Given the description of an element on the screen output the (x, y) to click on. 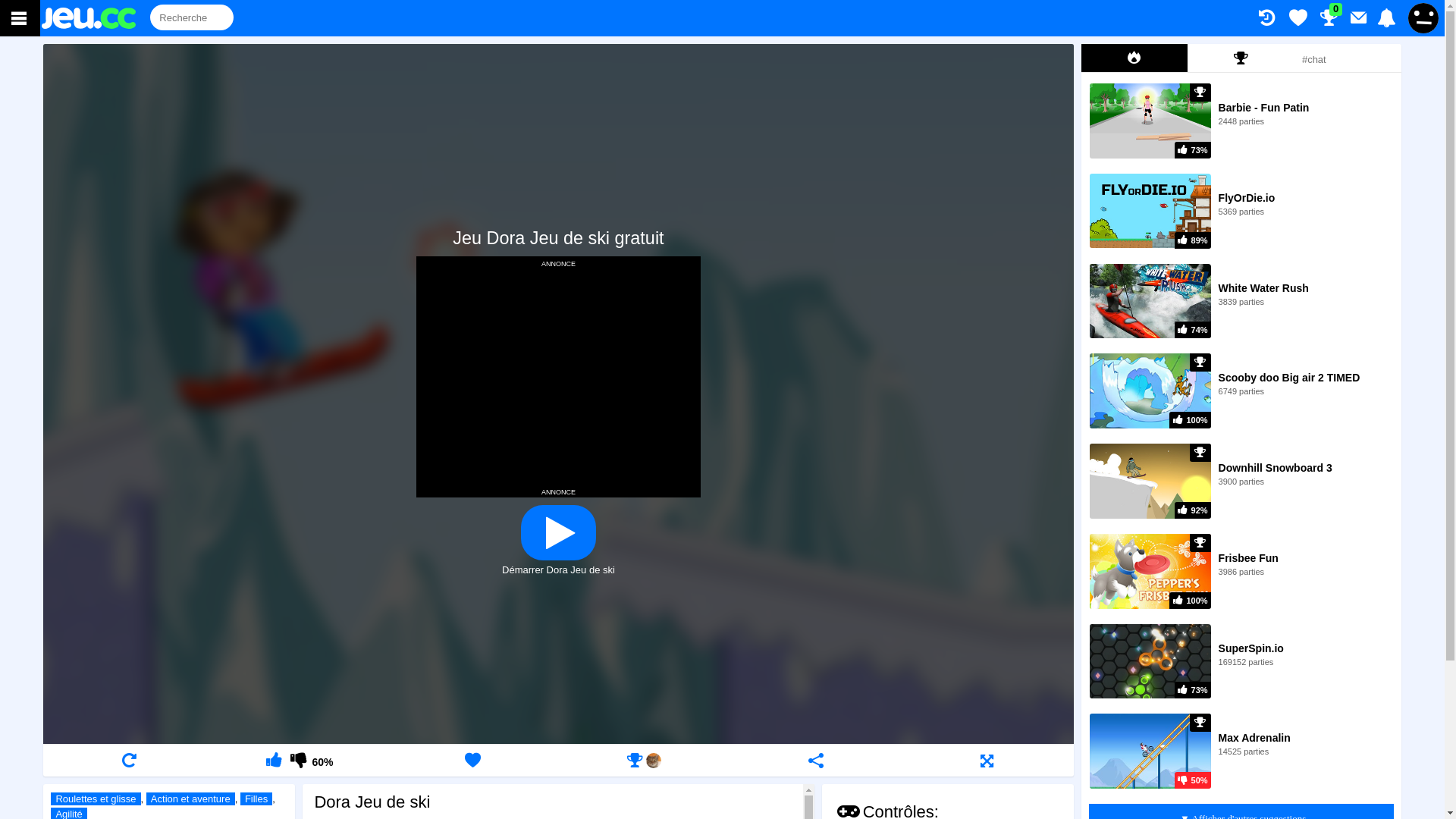
Frisbee Fun Element type: text (1248, 558)
Downhill Snowboard 3 Element type: text (1275, 467)
Accueil Element type: hover (95, 18)
0 Element type: text (1328, 18)
Mes alertes Element type: hover (1386, 18)
Mes jeux favoris Element type: hover (1297, 18)
Je n'aime pas ce jeu Element type: hover (296, 759)
SuperSpin.io Element type: text (1250, 648)
Max Adrenalin Element type: text (1254, 737)
J'aime ce jeu Element type: hover (273, 759)
Roulettes et glisse Element type: text (95, 798)
White Water Rush Element type: text (1263, 288)
Scooby doo Big air 2 TIMED Element type: text (1289, 377)
Action et aventure Element type: text (190, 798)
Filles Element type: text (256, 798)
Partager ce jeu Element type: hover (814, 759)
Barbie - Fun Patin Element type: text (1263, 107)
Advertisement Element type: hover (557, 374)
FlyOrDie.io Element type: text (1246, 197)
